Given the description of an element on the screen output the (x, y) to click on. 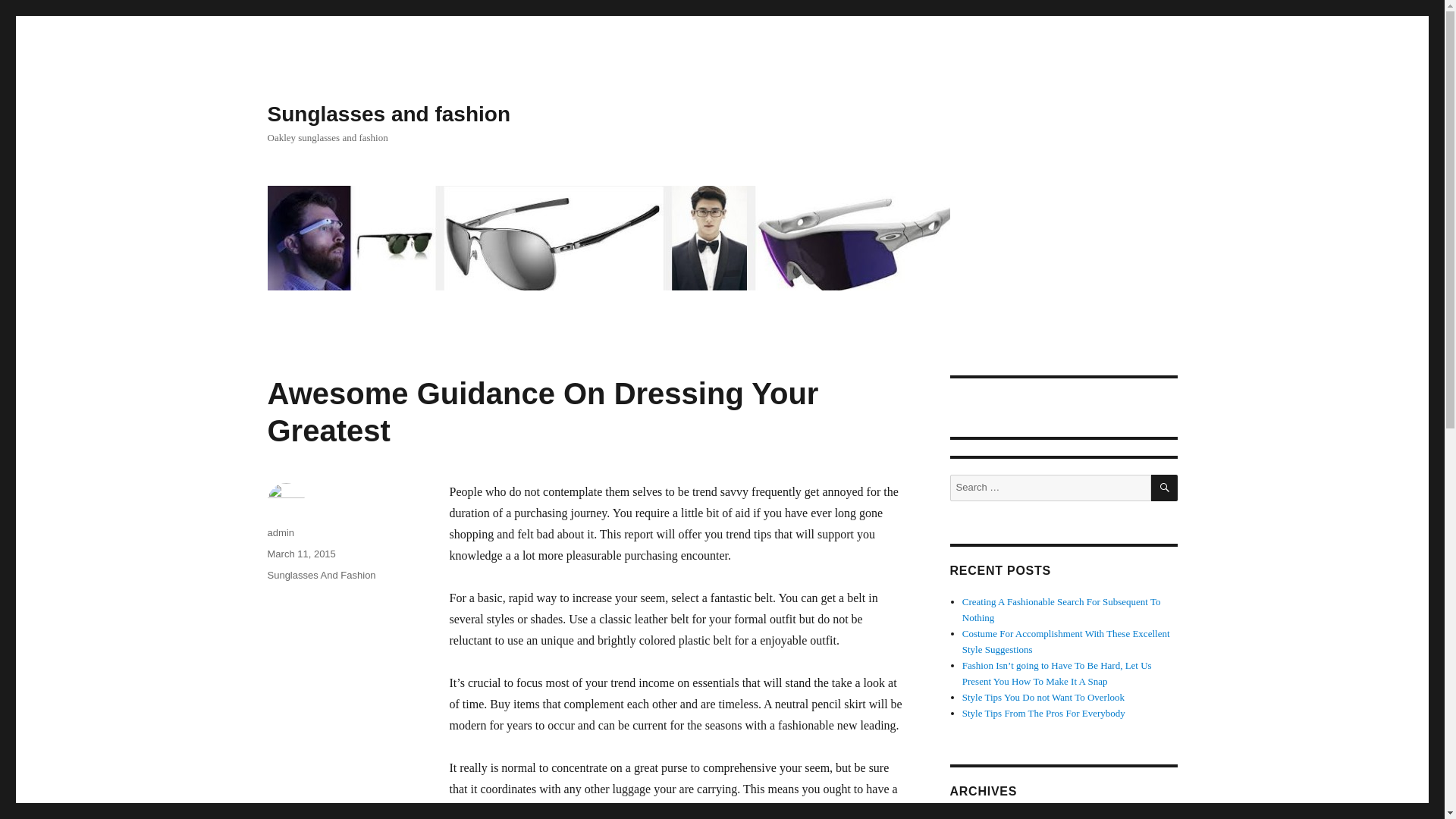
admin (280, 532)
Style Tips You Do not Want To Overlook (1043, 696)
Creating A Fashionable Search For Subsequent To Nothing (1061, 609)
March 11, 2015 (300, 553)
Sunglasses And Fashion (320, 574)
SEARCH (1164, 488)
Style Tips From The Pros For Everybody (1043, 713)
Sunglasses and fashion (388, 114)
December 2015 (993, 817)
